Given the description of an element on the screen output the (x, y) to click on. 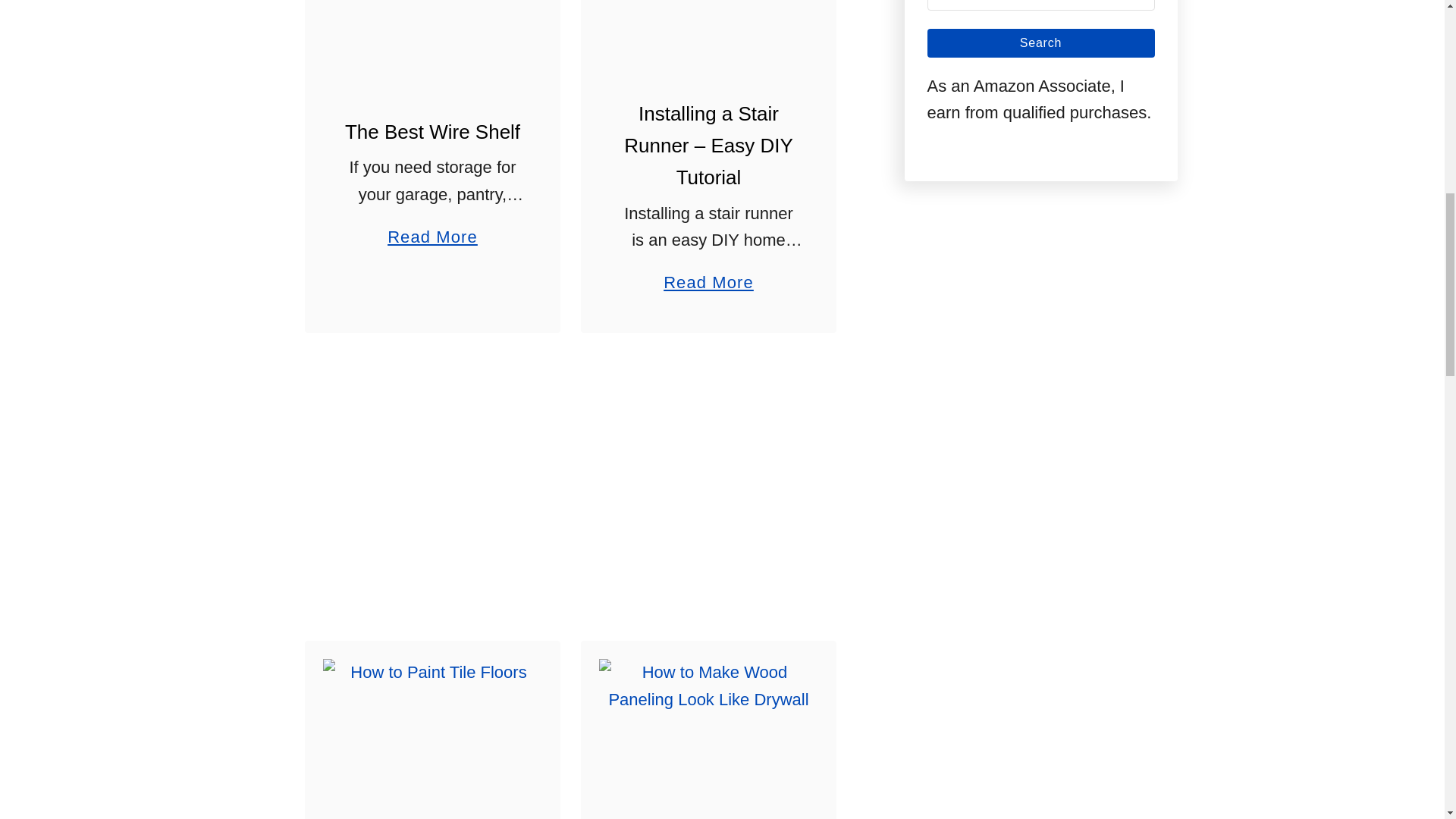
The Best Wire Shelf (432, 39)
The Best Wire Shelf (432, 131)
Search (1040, 42)
Search for: (1040, 5)
Search (1040, 42)
